Given the description of an element on the screen output the (x, y) to click on. 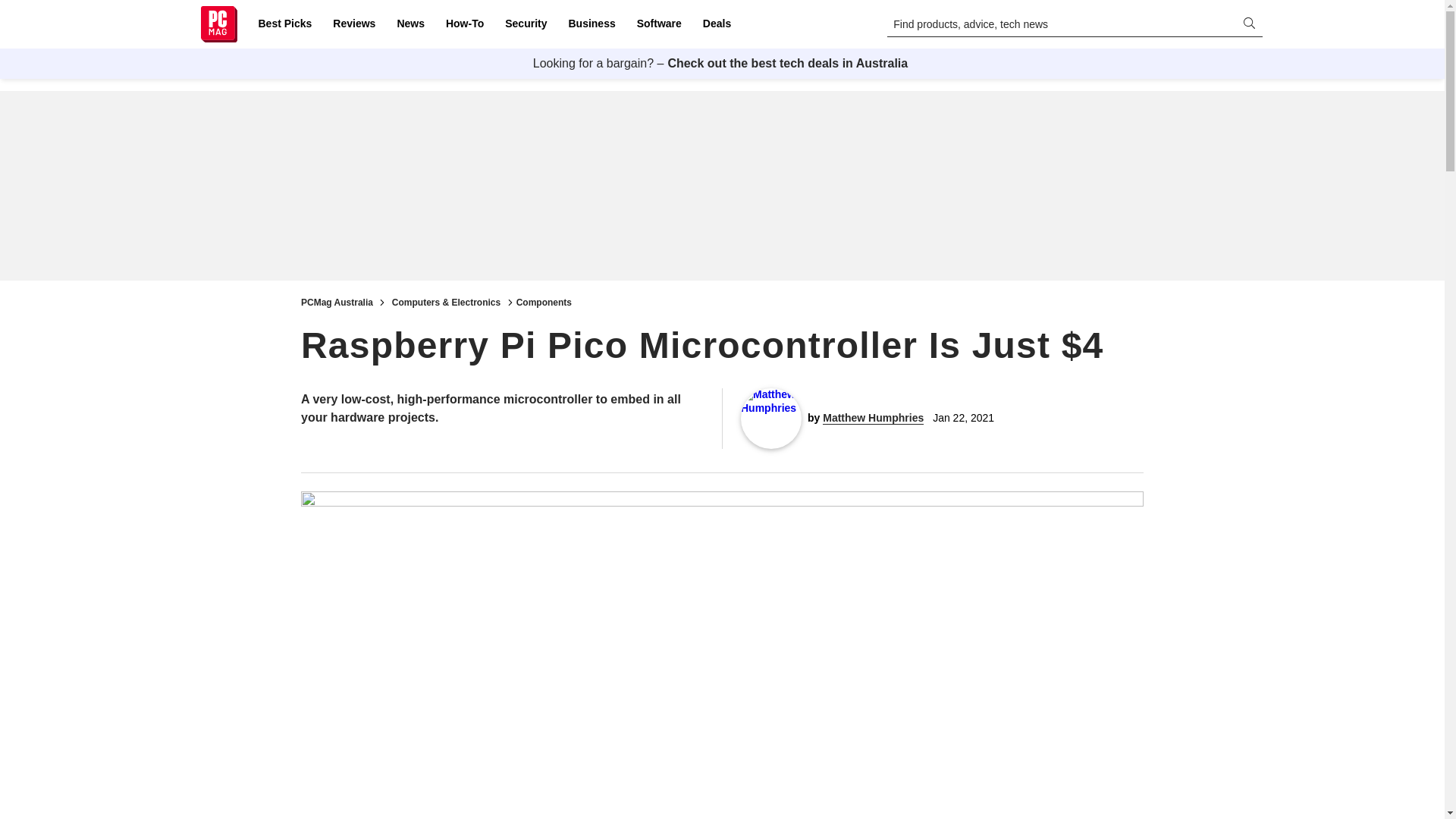
Security (526, 24)
How-To (464, 24)
Business (591, 24)
Reviews (353, 24)
Best Picks (284, 24)
